Given the description of an element on the screen output the (x, y) to click on. 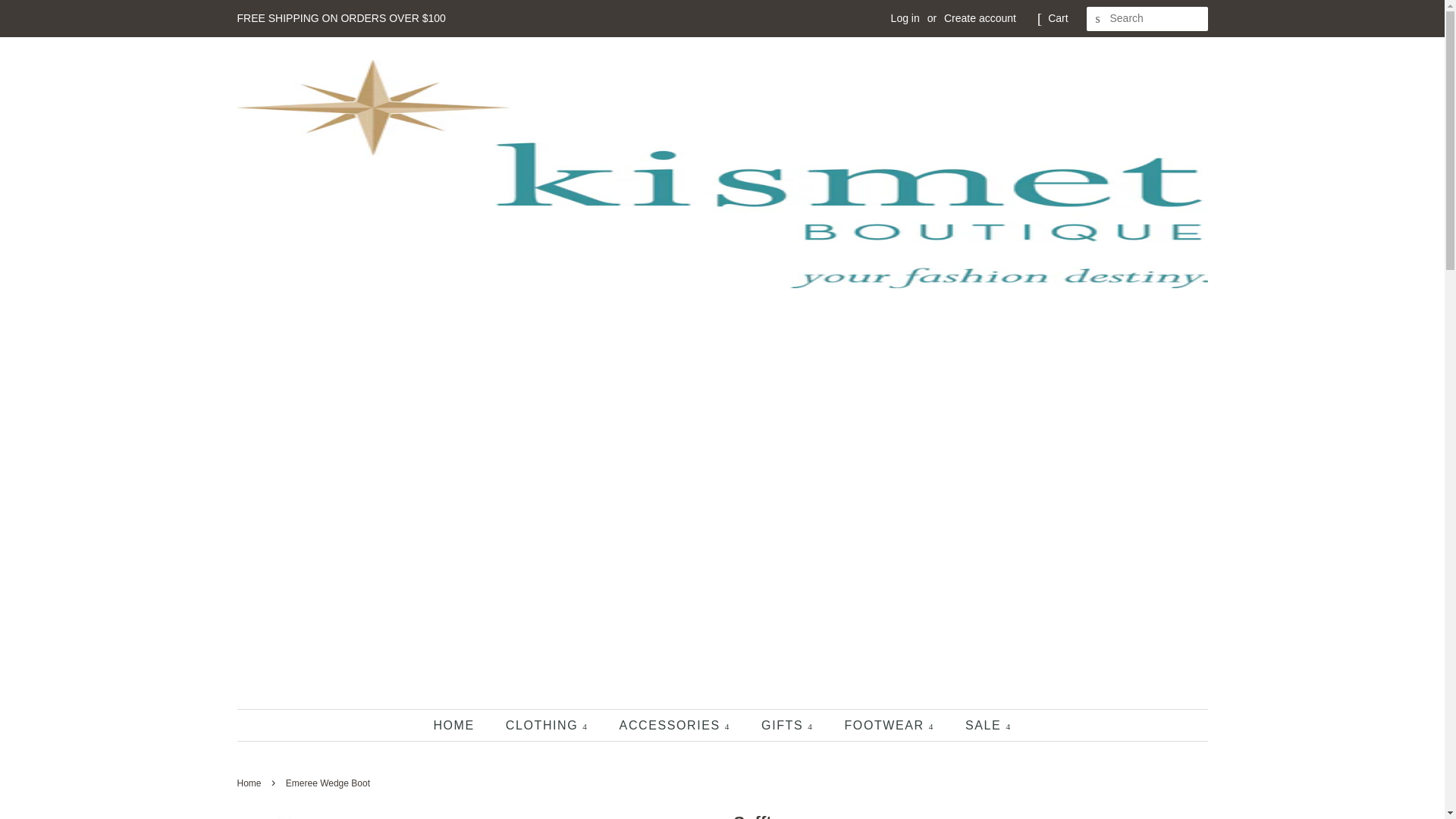
Cart (1057, 18)
Back to the frontpage (249, 783)
SEARCH (1097, 18)
Create account (979, 18)
Log in (905, 18)
